Given the description of an element on the screen output the (x, y) to click on. 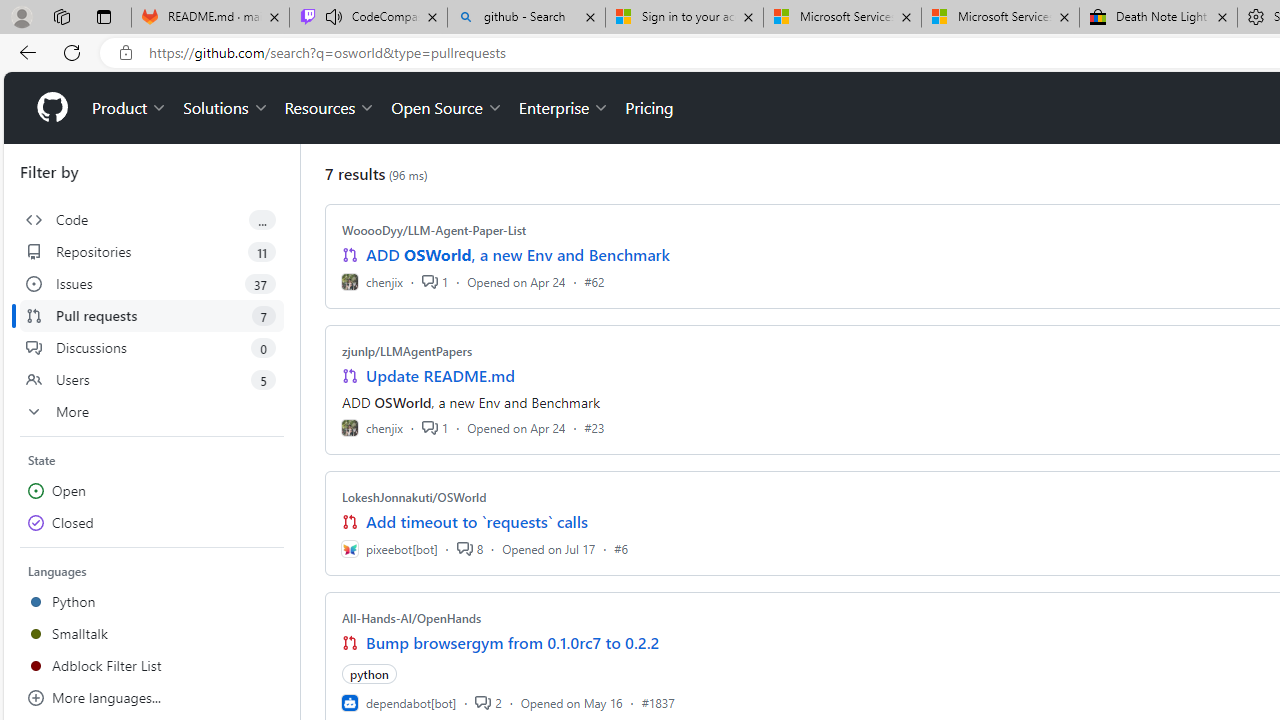
2 (487, 702)
Bump browsergym from 0.1.0rc7 to 0.2.2 (513, 642)
Pricing (649, 107)
Sign in to your account (683, 17)
Product (130, 107)
ADD OSWorld, a new Env and Benchmark (517, 255)
Update README.md (440, 376)
